Given the description of an element on the screen output the (x, y) to click on. 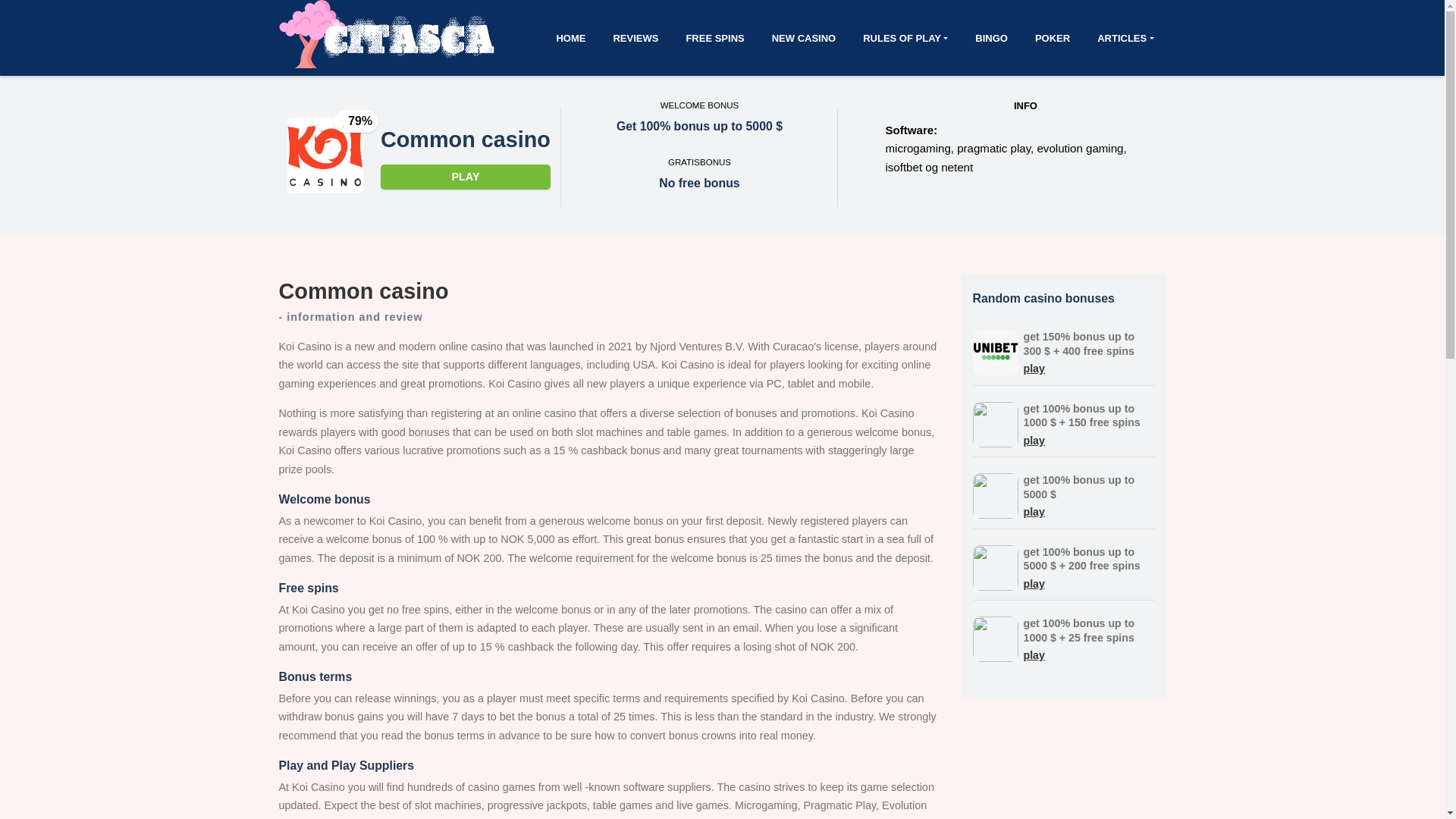
Common casino (465, 139)
FREE SPINS (714, 38)
play (1034, 583)
POKER (1052, 38)
REVIEWS (635, 38)
play (1034, 440)
play (1034, 654)
BINGO (991, 38)
NEW CASINO (803, 38)
ARTICLES (1125, 38)
play (1034, 511)
PLAY (465, 176)
play (1034, 368)
HOME (570, 38)
RULES OF PLAY (905, 38)
